Given the description of an element on the screen output the (x, y) to click on. 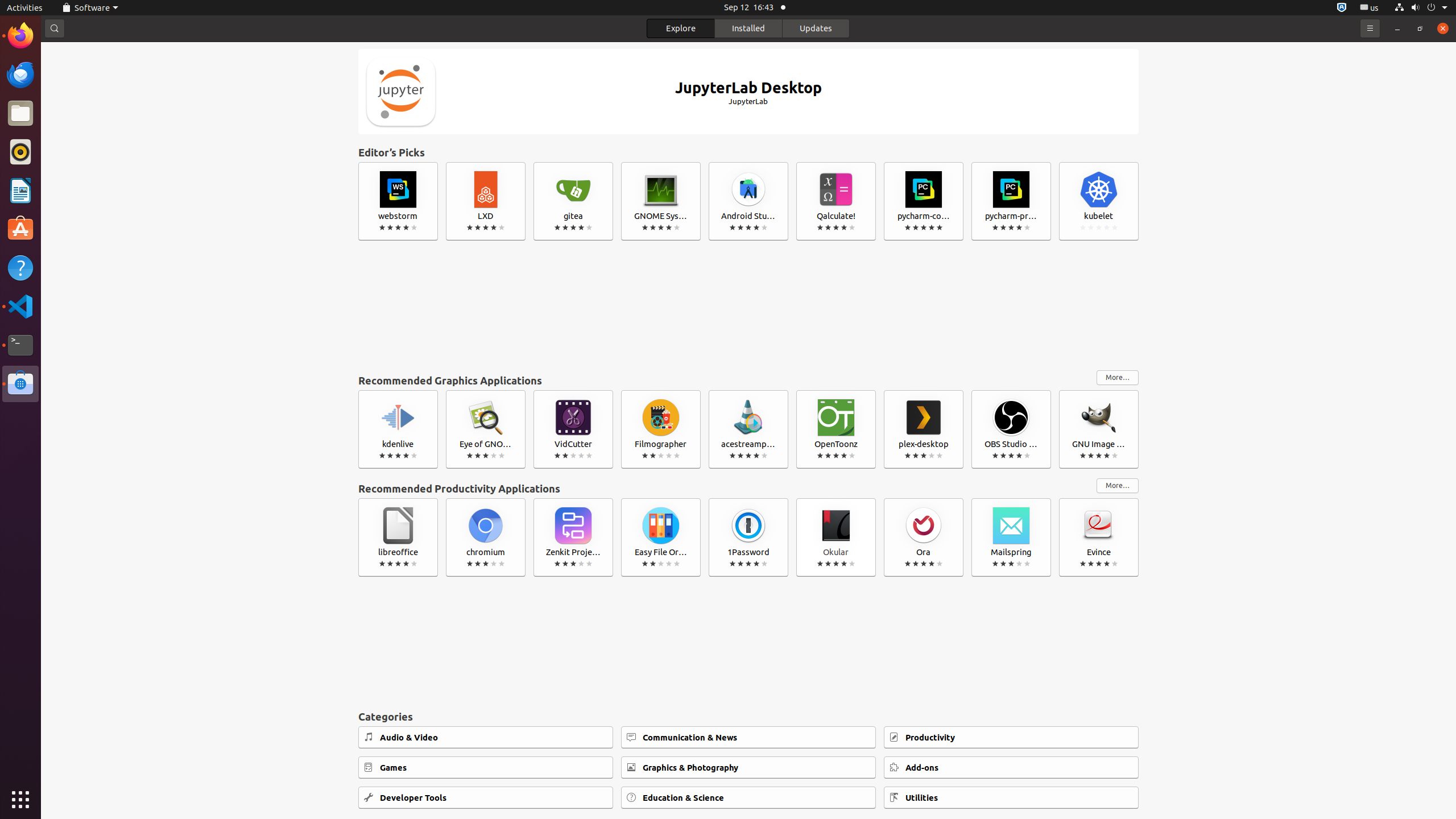
Qalculate! Element type: push-button (835, 201)
Add-ons Element type: push-button (1010, 767)
Categories Element type: label (748, 716)
Mailspring Element type: push-button (1011, 537)
luyi1 Element type: label (75, 50)
